Given the description of an element on the screen output the (x, y) to click on. 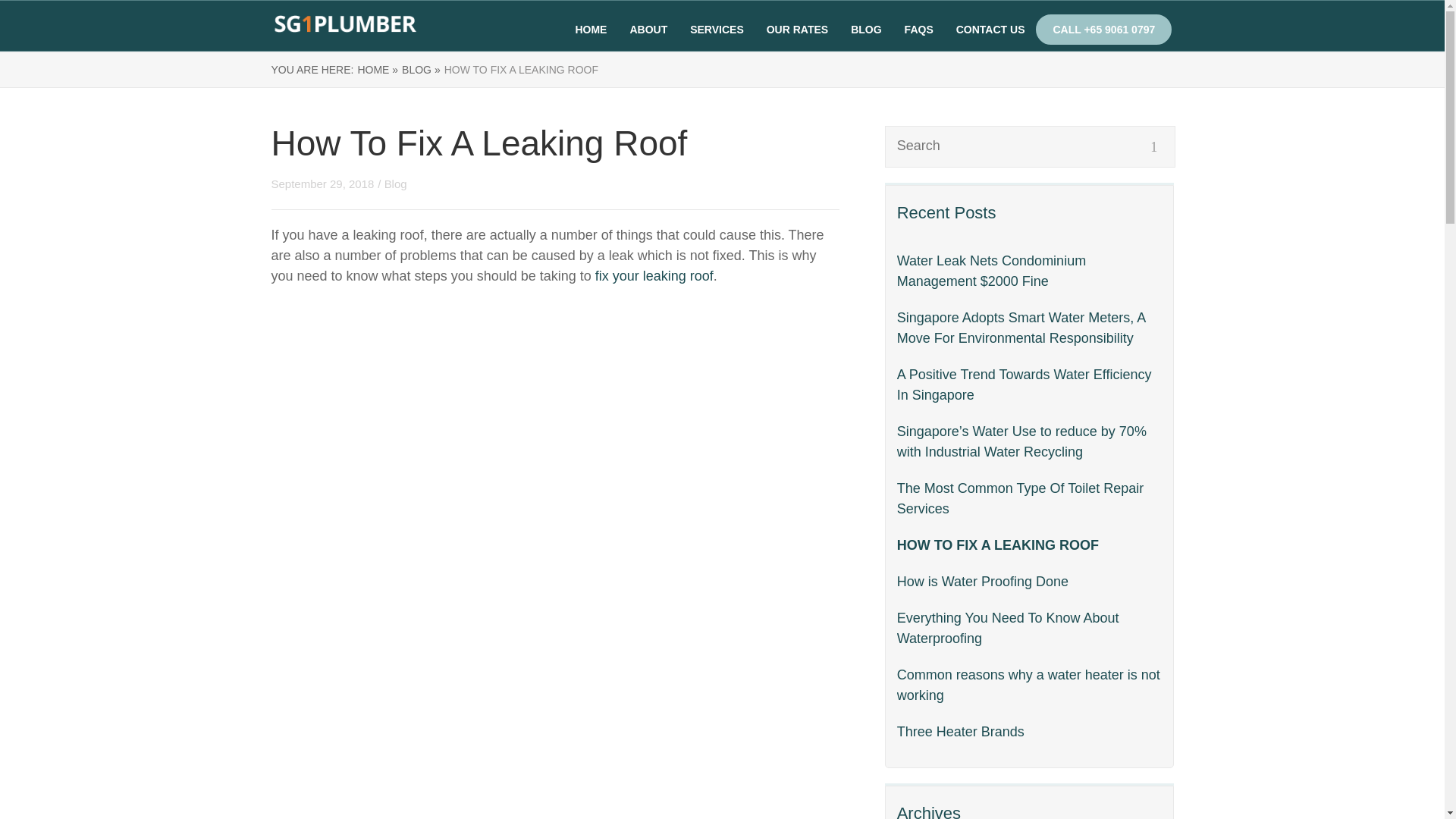
Blog (395, 183)
ABOUT (647, 29)
SERVICES (717, 29)
FAQS (918, 29)
Common reasons why a water heater is not working (1028, 685)
The Most Common Type Of Toilet Repair Services (1028, 498)
CONTACT US (990, 29)
A Positive Trend Towards Water Efficiency In Singapore (1028, 384)
HOW TO FIX A LEAKING ROOF (1028, 545)
